Given the description of an element on the screen output the (x, y) to click on. 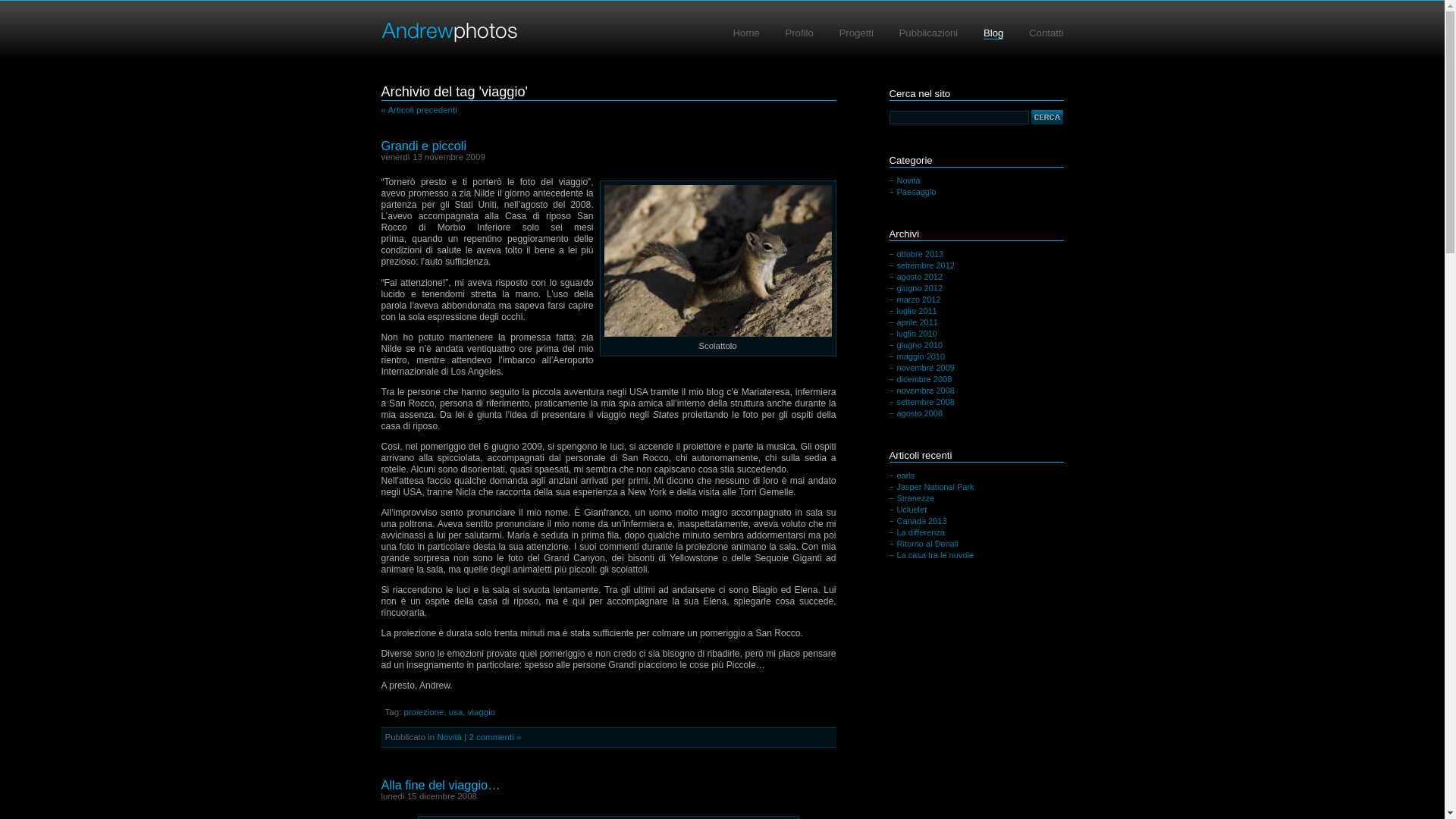
Paesaggio Element type: text (915, 191)
novembre 2009 Element type: text (924, 367)
Pubblicazioni Element type: text (928, 32)
marzo 2012 Element type: text (918, 299)
Grandi e piccoli Element type: text (423, 145)
La differenza Element type: text (920, 531)
Jasper National Park Element type: text (934, 486)
ottobre 2013 Element type: text (919, 253)
dicembre 2008 Element type: text (923, 378)
Contatti Element type: text (1046, 32)
agosto 2012 Element type: text (919, 276)
giugno 2012 Element type: text (919, 287)
viaggio Element type: text (481, 711)
maggio 2010 Element type: text (920, 355)
Scoiattolo Element type: hover (717, 260)
settembre 2008 Element type: text (924, 401)
Blog Element type: text (993, 33)
La casa tra le nuvole Element type: text (934, 554)
luglio 2010 Element type: text (916, 333)
Ritorno al Denali Element type: text (926, 543)
Home Element type: text (746, 32)
proiezione Element type: text (423, 711)
Andrewphotos Element type: text (448, 32)
agosto 2008 Element type: text (919, 412)
giugno 2010 Element type: text (919, 344)
aprile 2011 Element type: text (916, 321)
novembre 2008 Element type: text (924, 390)
Stranezze Element type: text (915, 497)
Progetti Element type: text (855, 32)
earls Element type: text (905, 475)
Profilo Element type: text (798, 32)
usa Element type: text (455, 711)
settembre 2012 Element type: text (924, 264)
Ucluelet Element type: text (911, 509)
luglio 2011 Element type: text (916, 310)
Canada 2013 Element type: text (921, 520)
